Given the description of an element on the screen output the (x, y) to click on. 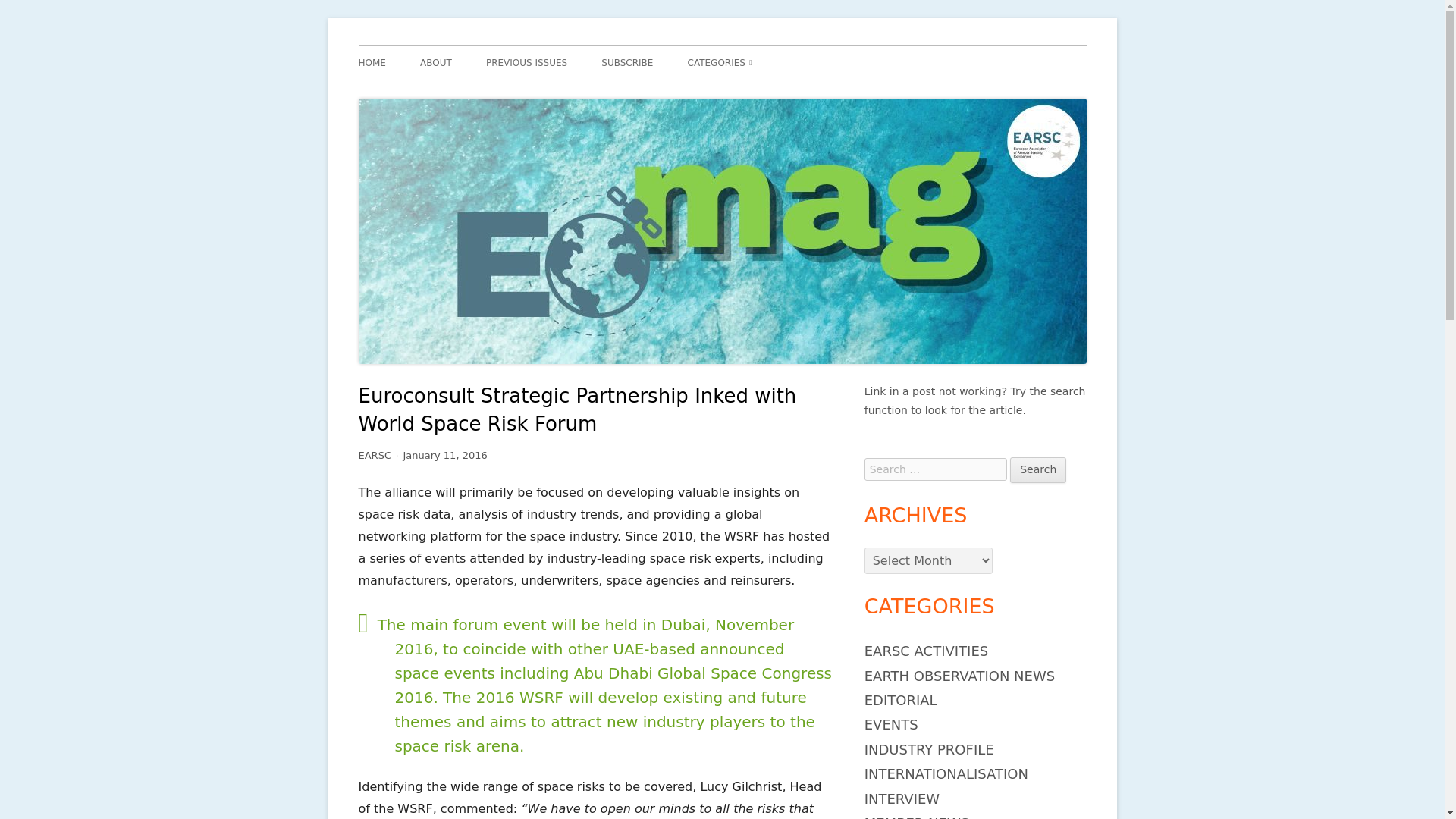
ABOUT (435, 62)
CATEGORIES (719, 62)
SUBSCRIBE (626, 62)
INTERVIEW (901, 798)
PREVIOUS ISSUES (526, 62)
EVENTS (891, 724)
Search (1037, 470)
MEMBER NEWS (916, 816)
Search (1037, 470)
January 11, 2016 (444, 455)
